Given the description of an element on the screen output the (x, y) to click on. 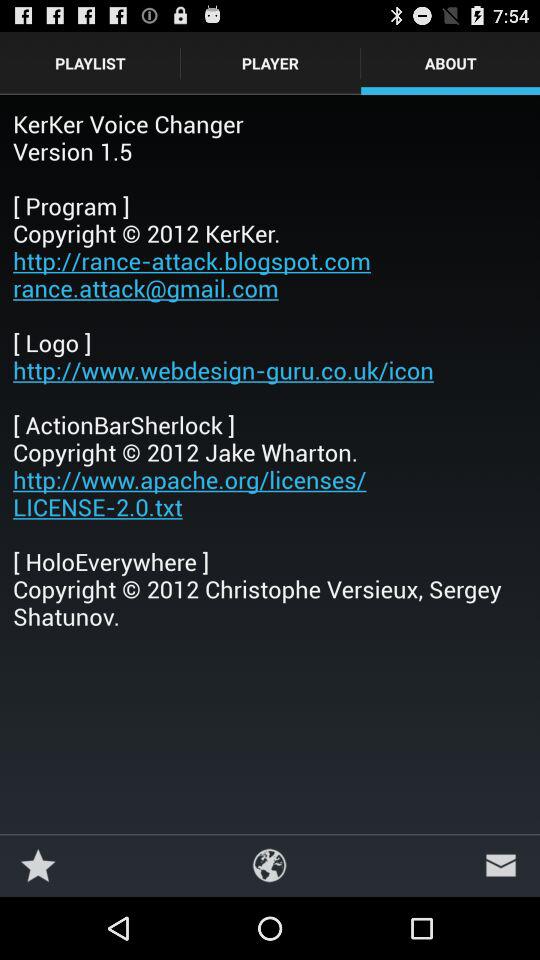
click the app below playlist (270, 369)
